Given the description of an element on the screen output the (x, y) to click on. 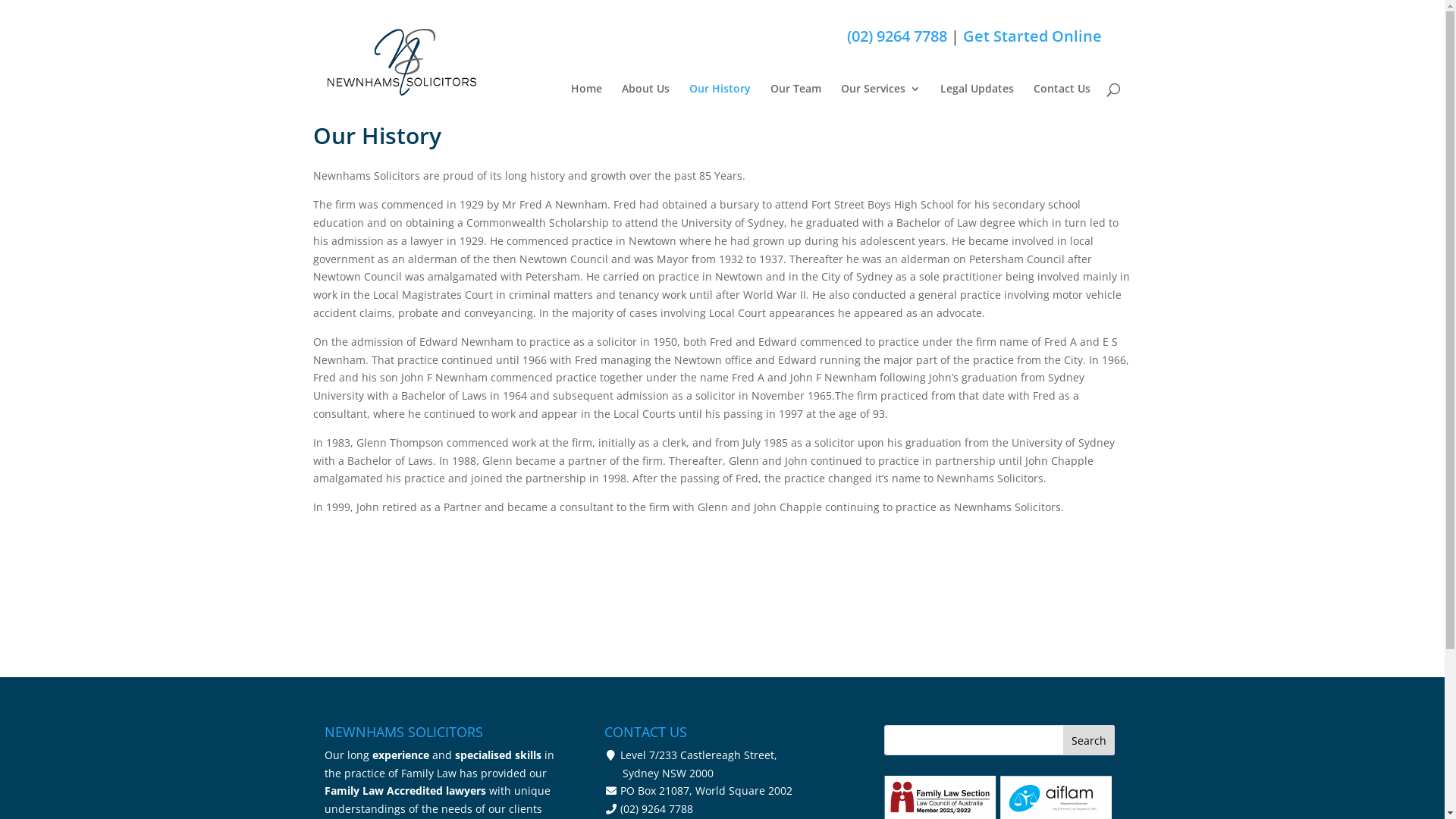
Legal Updates Element type: text (976, 103)
Our History Element type: text (718, 103)
Contact Us Element type: text (1060, 103)
About Us Element type: text (645, 103)
(02) 9264 7788 Element type: text (896, 35)
Our Services Element type: text (879, 103)
Search Element type: text (1088, 739)
Home Element type: text (585, 103)
Get Started Online Element type: text (1032, 35)
Our Team Element type: text (795, 103)
